Given the description of an element on the screen output the (x, y) to click on. 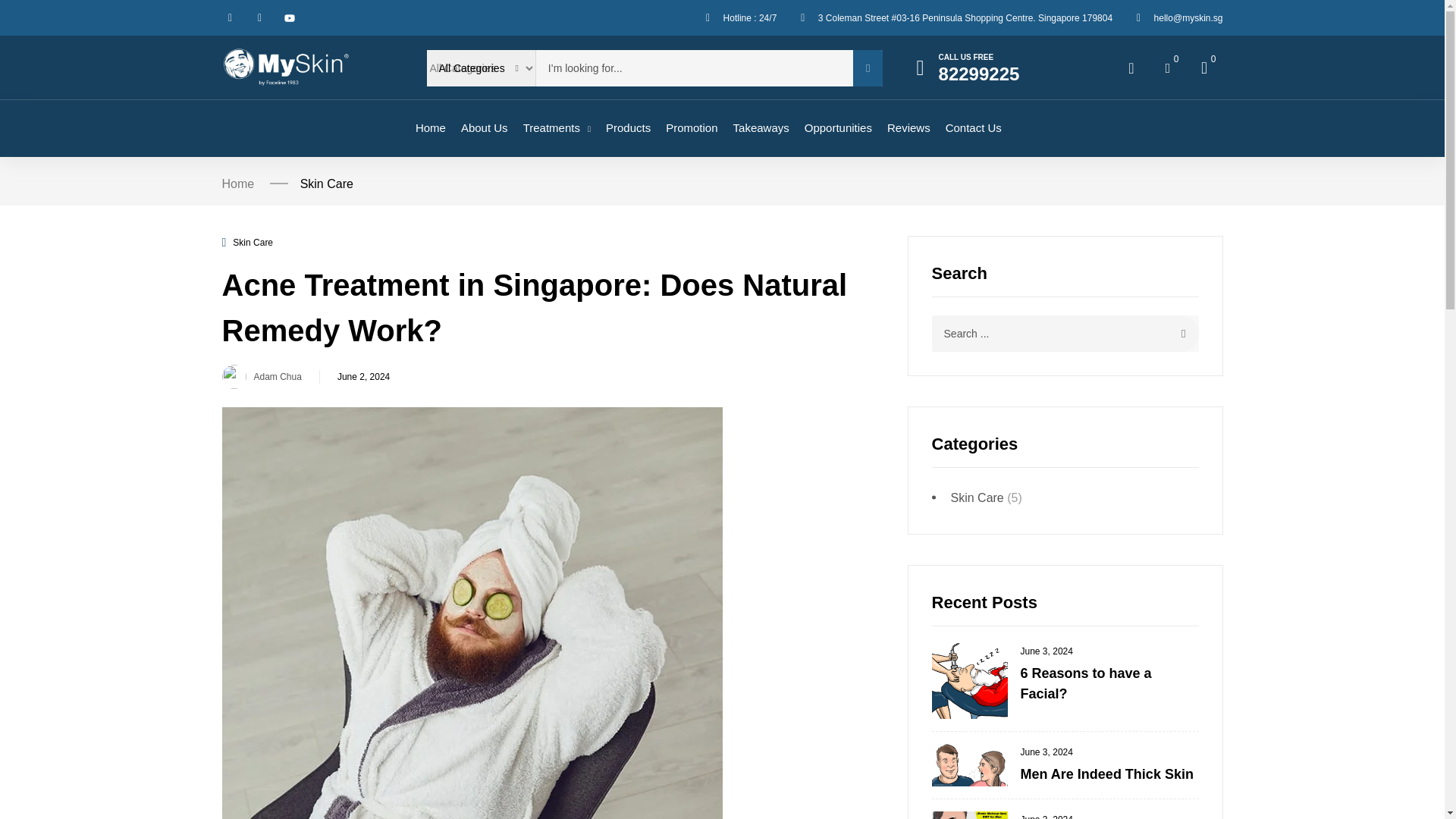
82299225 (979, 73)
 All Categories (480, 67)
Posts by Adam Chua (277, 377)
0 (1204, 67)
CALL US FREE (966, 57)
View all posts in Skin Care (252, 242)
View your shopping cart (1204, 67)
0 (1168, 67)
